Given the description of an element on the screen output the (x, y) to click on. 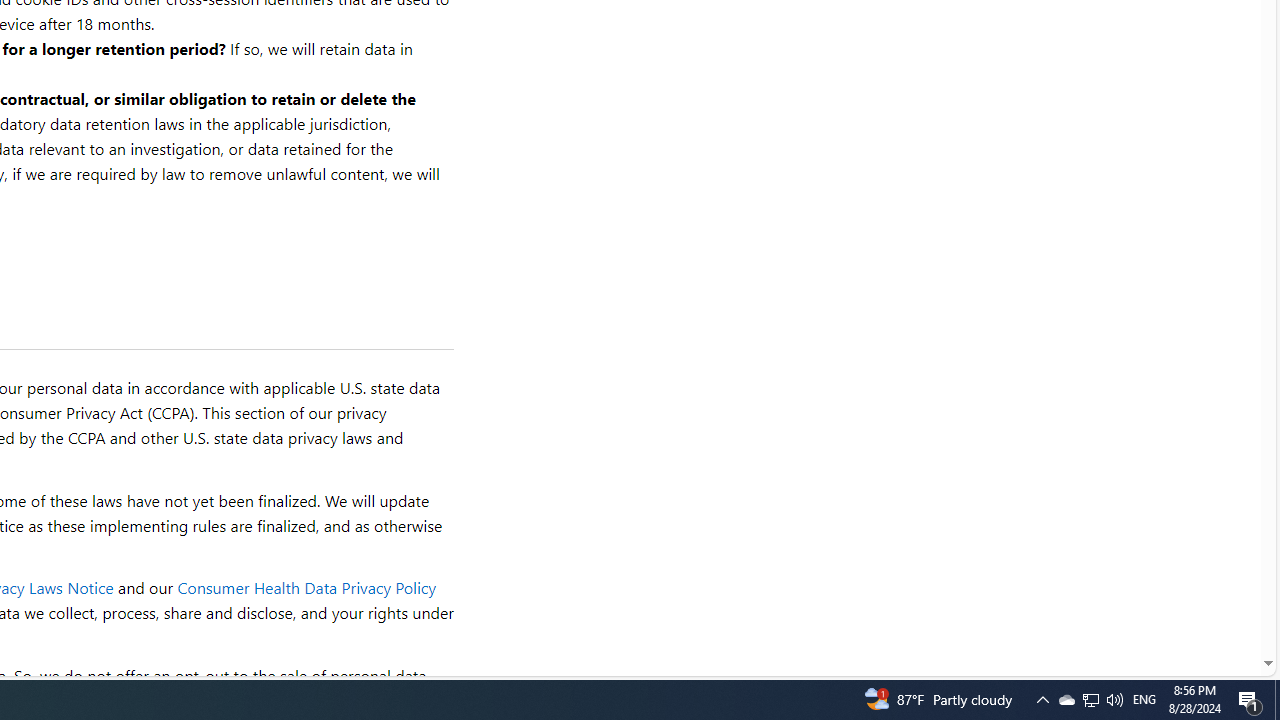
Consumer Health Data Privacy Policy (306, 587)
